Given the description of an element on the screen output the (x, y) to click on. 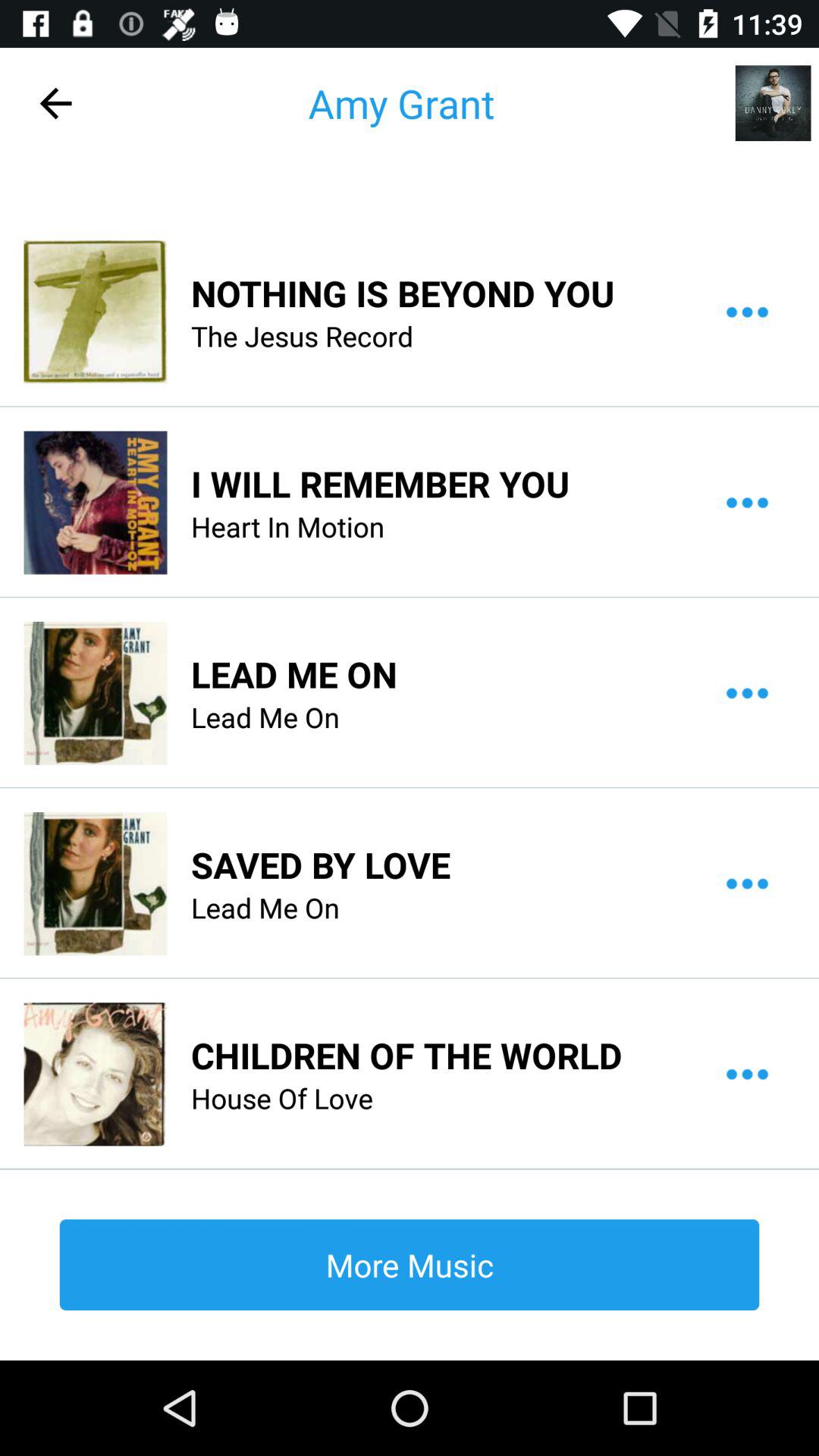
select the icon next to the lead me on icon (95, 692)
